Given the description of an element on the screen output the (x, y) to click on. 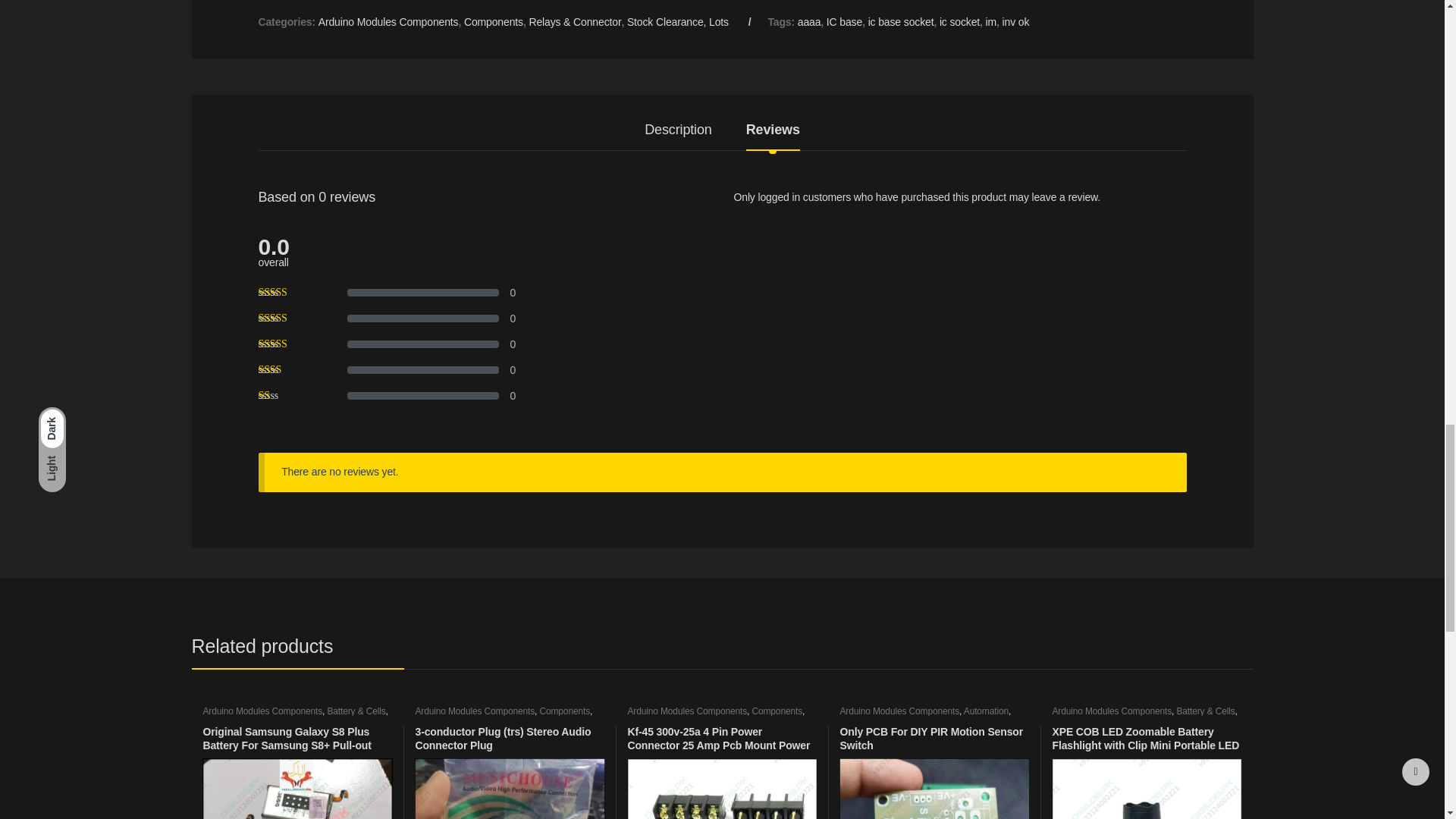
Stock Clearance, Lots (678, 21)
Rated 1 out of 5 (286, 395)
Rated 2 out of 5 (286, 369)
Rated 3 out of 5 (286, 344)
Arduino Modules Components (388, 21)
Components (493, 21)
Rated 4 out of 5 (286, 317)
Rated 5 out of 5 (286, 292)
aaaa (809, 21)
IC base (844, 21)
